Given the description of an element on the screen output the (x, y) to click on. 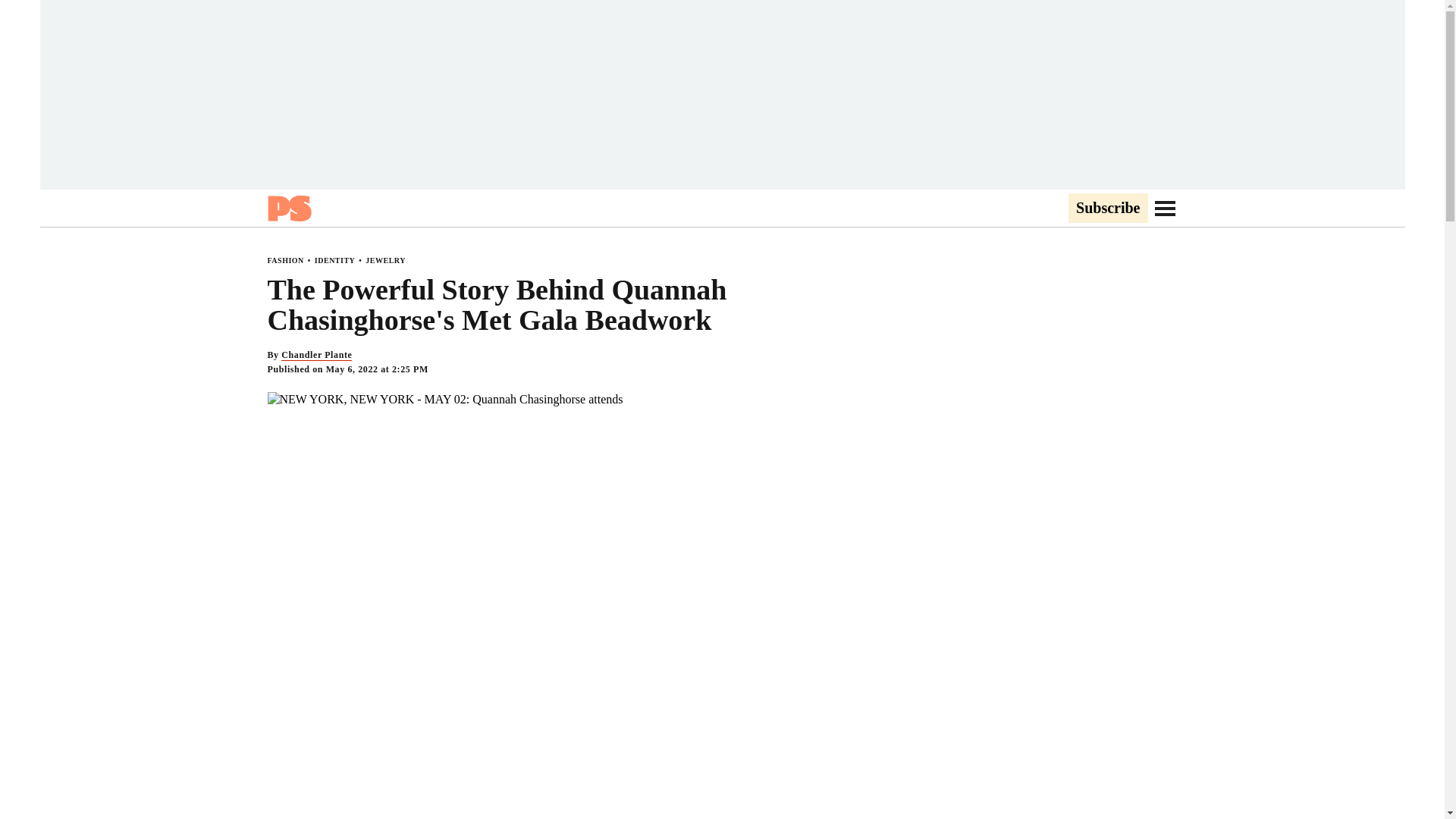
Chandler Plante (316, 355)
FASHION (284, 260)
JEWELRY (385, 260)
Subscribe (1107, 208)
Go to Navigation (1164, 207)
IDENTITY (334, 260)
Popsugar (288, 208)
Go to Navigation (1164, 207)
